Given the description of an element on the screen output the (x, y) to click on. 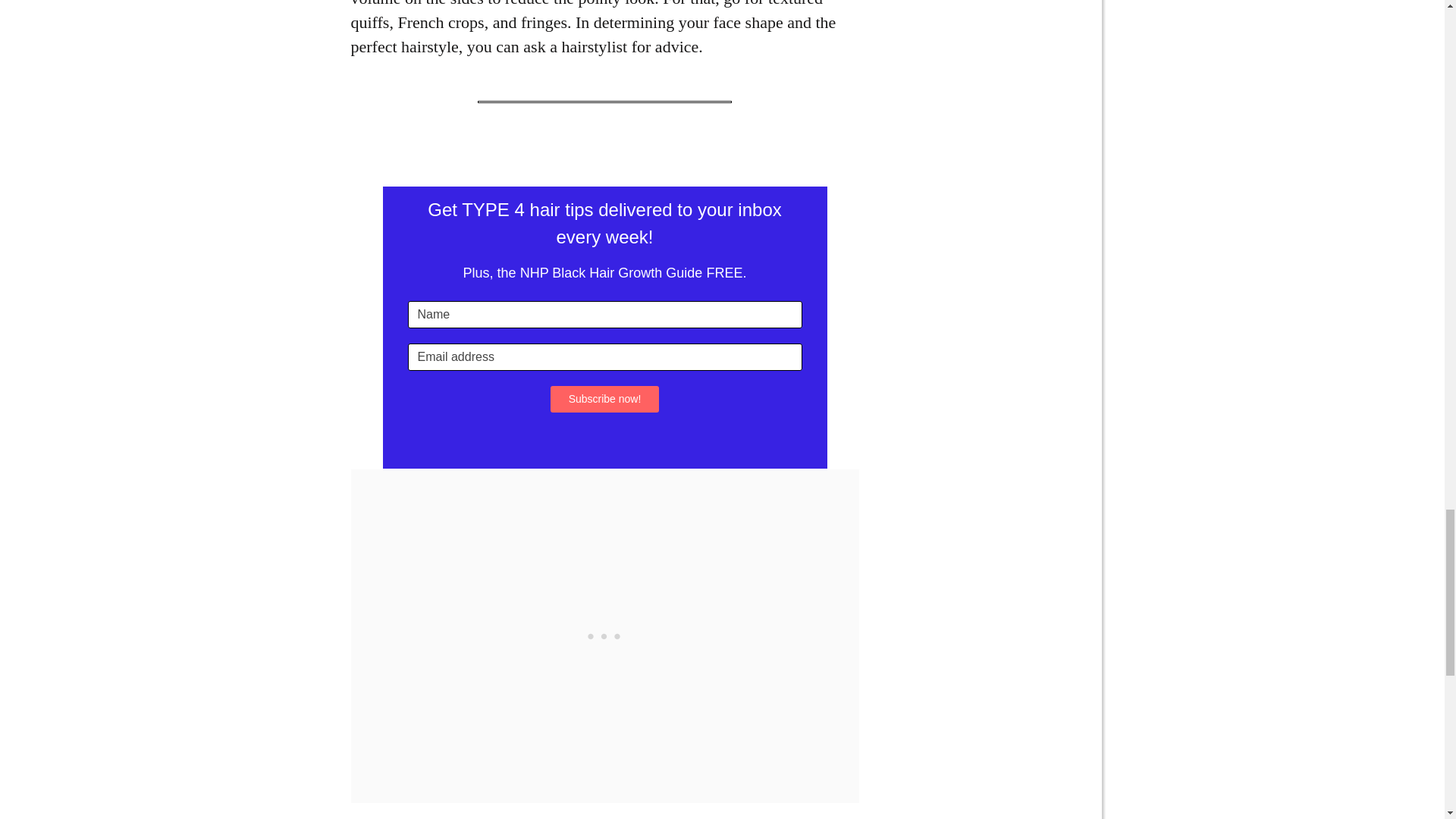
Email address (604, 356)
Subscribe now! (604, 397)
Name (604, 313)
Subscribe now! (604, 397)
